Given the description of an element on the screen output the (x, y) to click on. 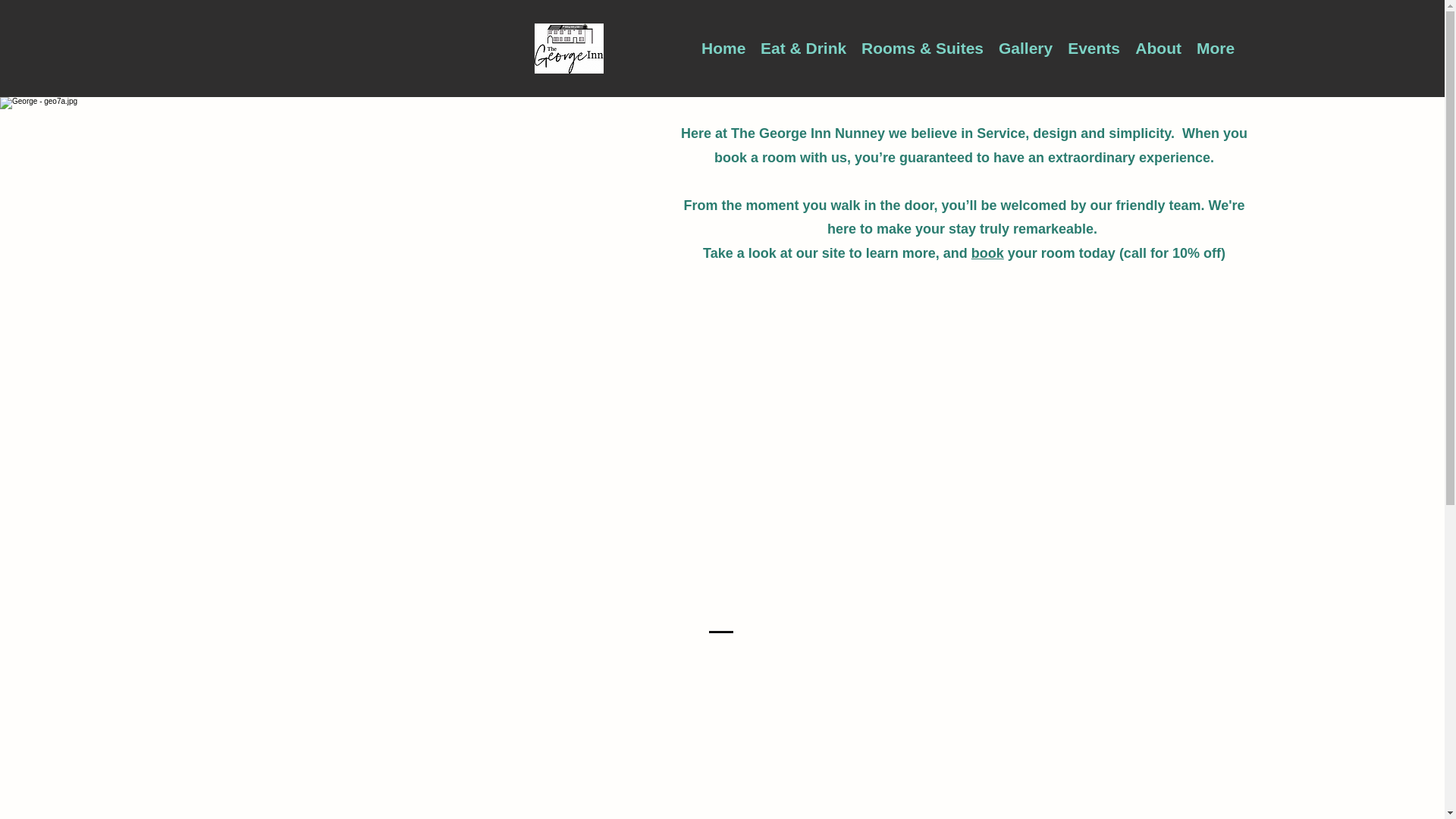
Gallery (1025, 48)
book (987, 253)
Home (723, 48)
About (1157, 48)
Events (1092, 48)
